Given the description of an element on the screen output the (x, y) to click on. 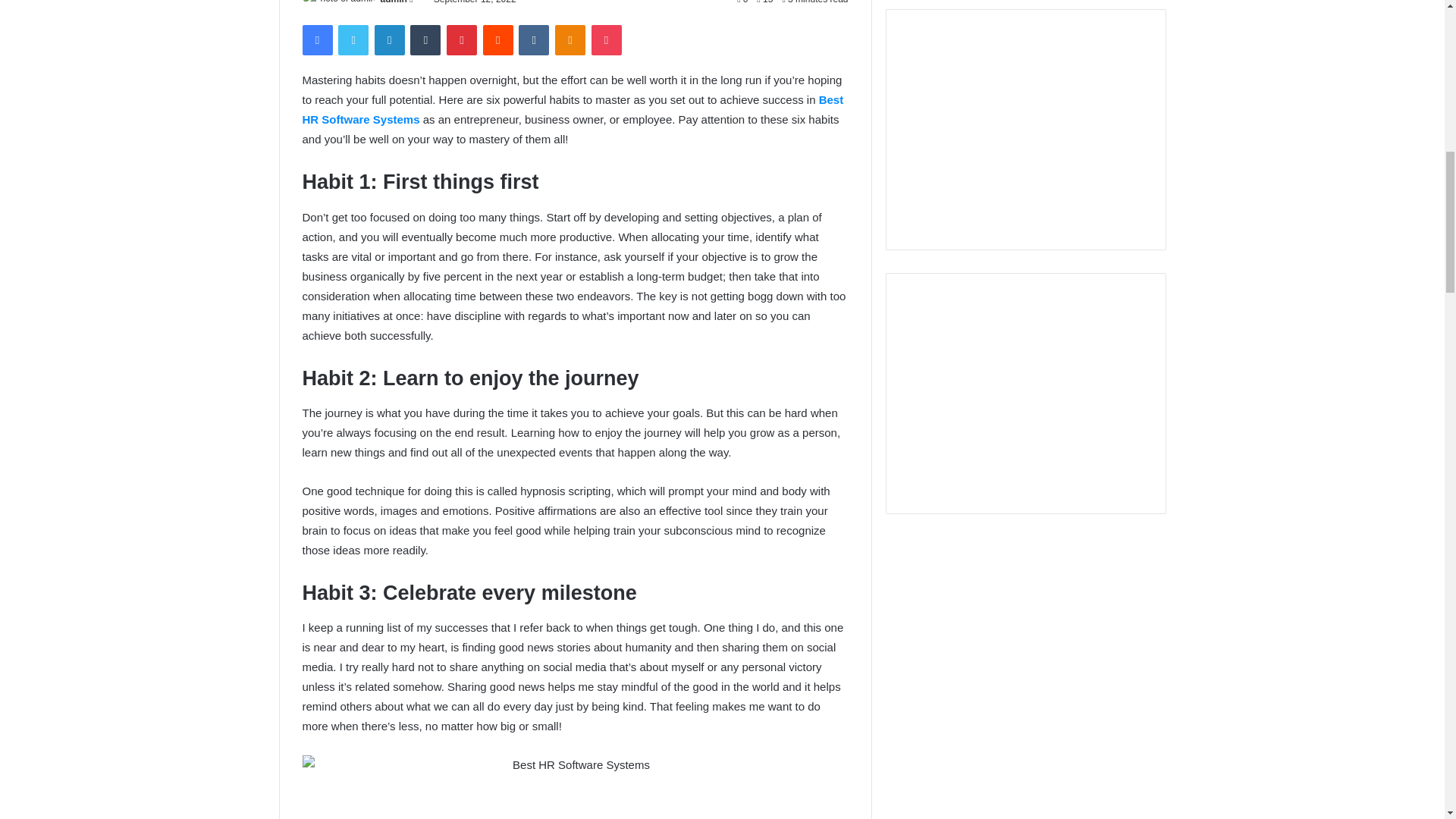
admin (393, 2)
Tumblr (425, 40)
Reddit (498, 40)
Odnoklassniki (569, 40)
Pinterest (461, 40)
Best HR Software Systems (572, 109)
Twitter (352, 40)
admin (393, 2)
Tumblr (425, 40)
VKontakte (533, 40)
